Given the description of an element on the screen output the (x, y) to click on. 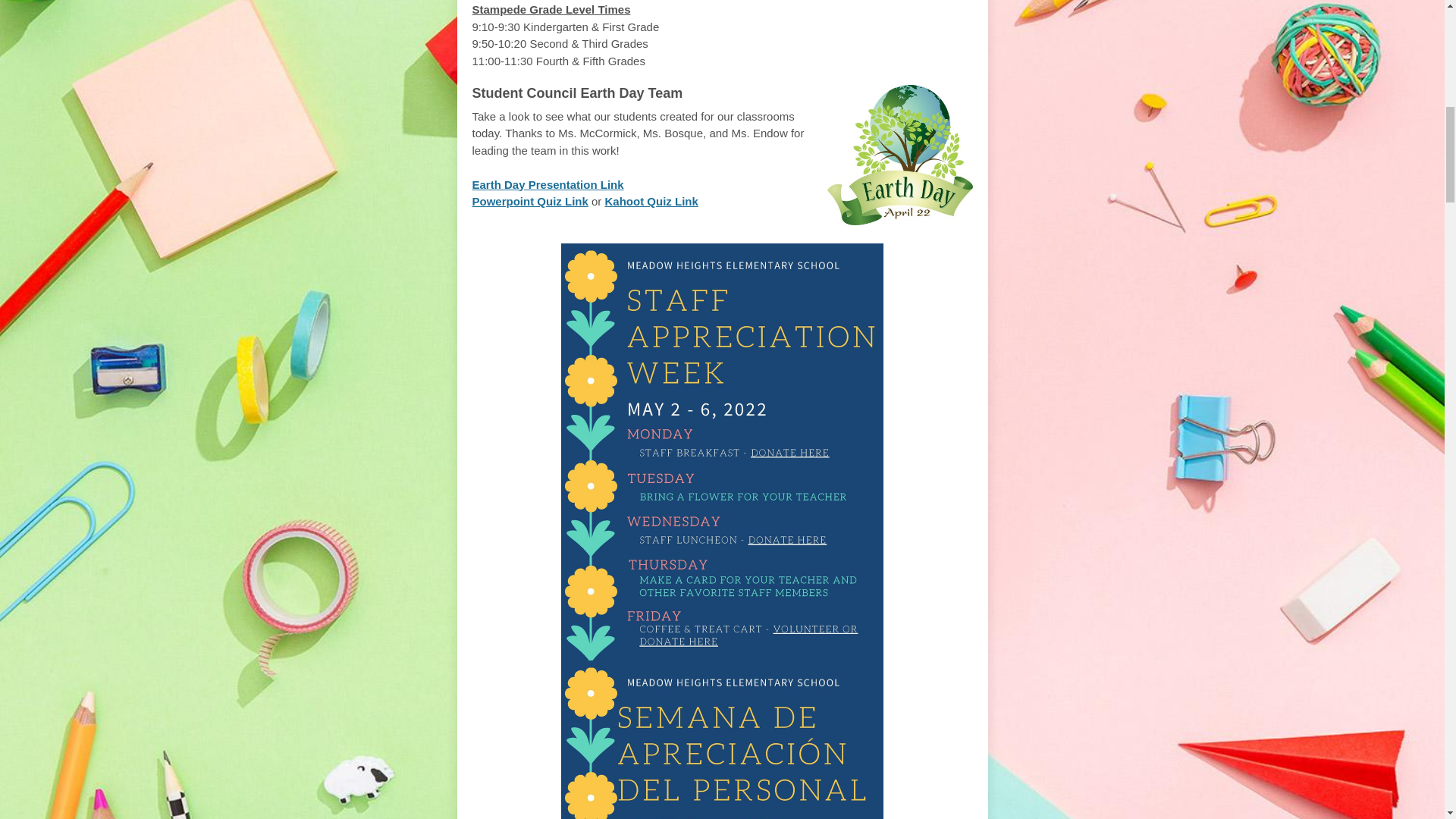
Kahoot Quiz Link (651, 201)
Donar Aqui (722, 739)
Powerpoint Quiz Link (529, 201)
Earth Day Presentation Link (547, 183)
